Given the description of an element on the screen output the (x, y) to click on. 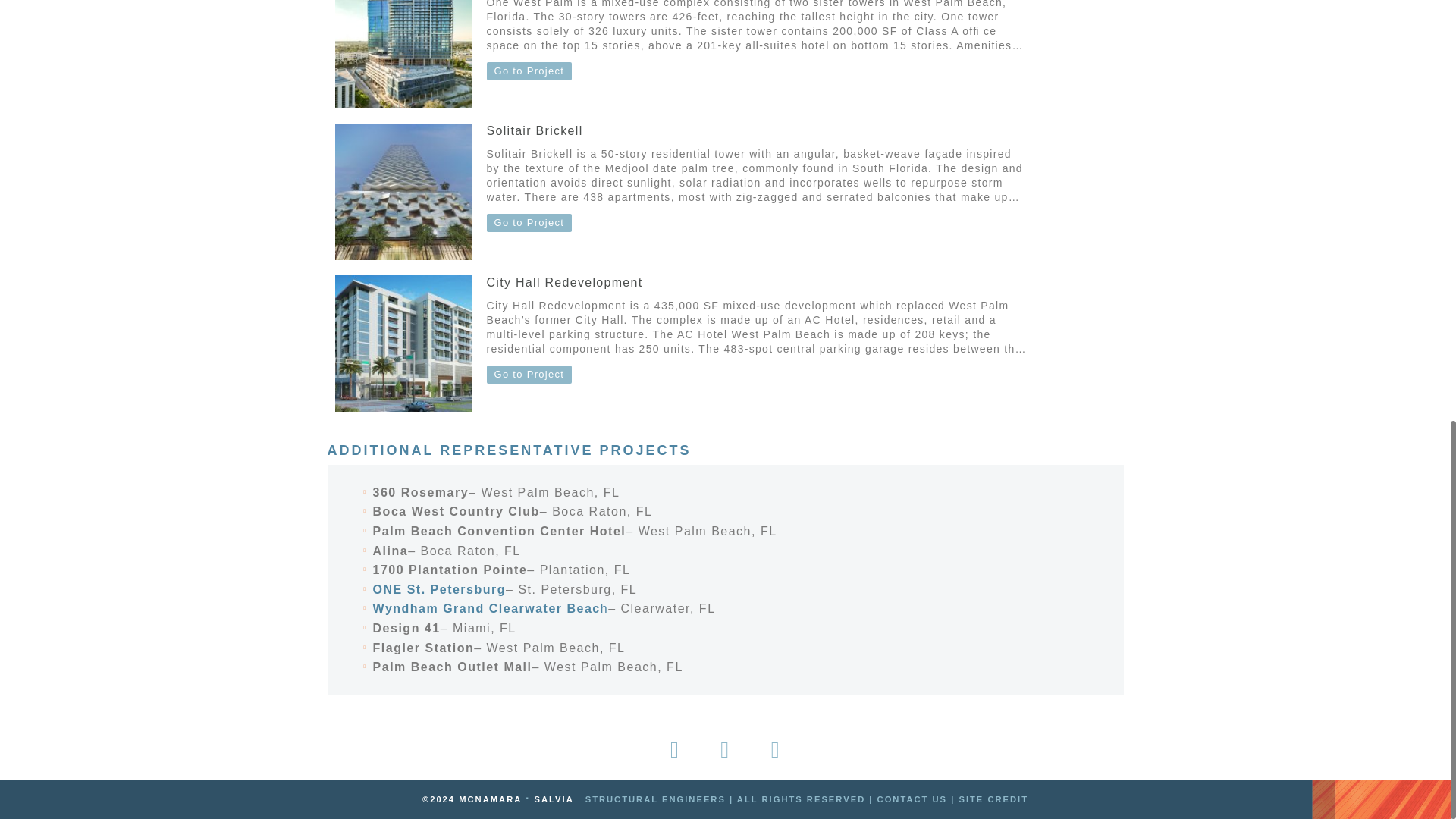
Wyndham Grand Clearwater Beach (490, 608)
SITE CREDIT (992, 798)
City Hall Redevelopment (564, 282)
Go to Project (529, 71)
CONTACT US (912, 798)
Go to Project (529, 222)
default (402, 54)
Go to Project (529, 374)
ONE St. Petersburg (438, 589)
Solitair Brickell (534, 130)
